Given the description of an element on the screen output the (x, y) to click on. 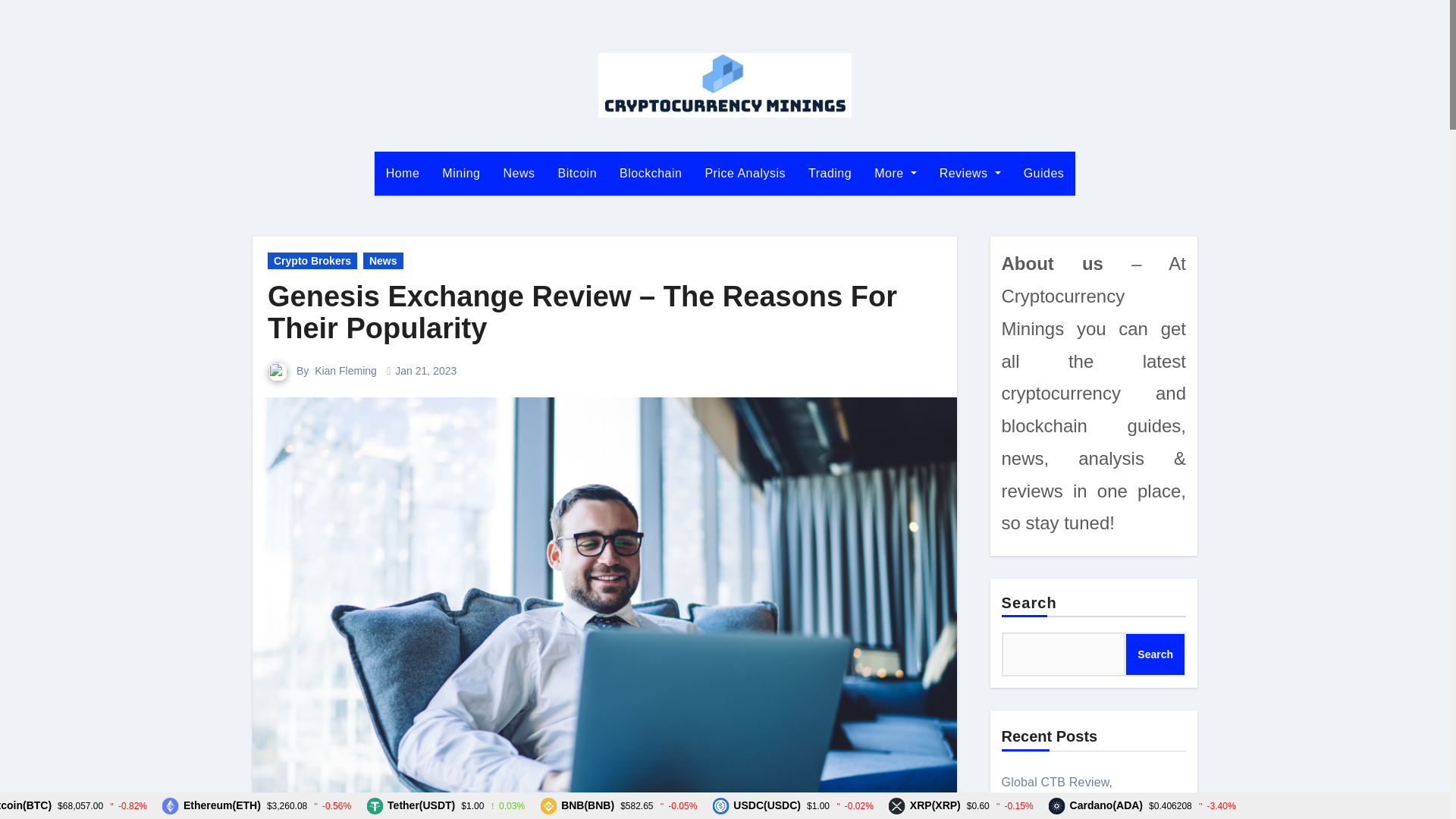
Blockchain (650, 173)
Home (402, 173)
More (895, 173)
News (382, 260)
More (895, 173)
Bitcoin (577, 173)
Blockchain (650, 173)
Mining (461, 173)
Trading (829, 173)
Price Analysis (744, 173)
Crypto Brokers (311, 260)
Mining (461, 173)
News (519, 173)
Home (402, 173)
Guides (1043, 173)
